Given the description of an element on the screen output the (x, y) to click on. 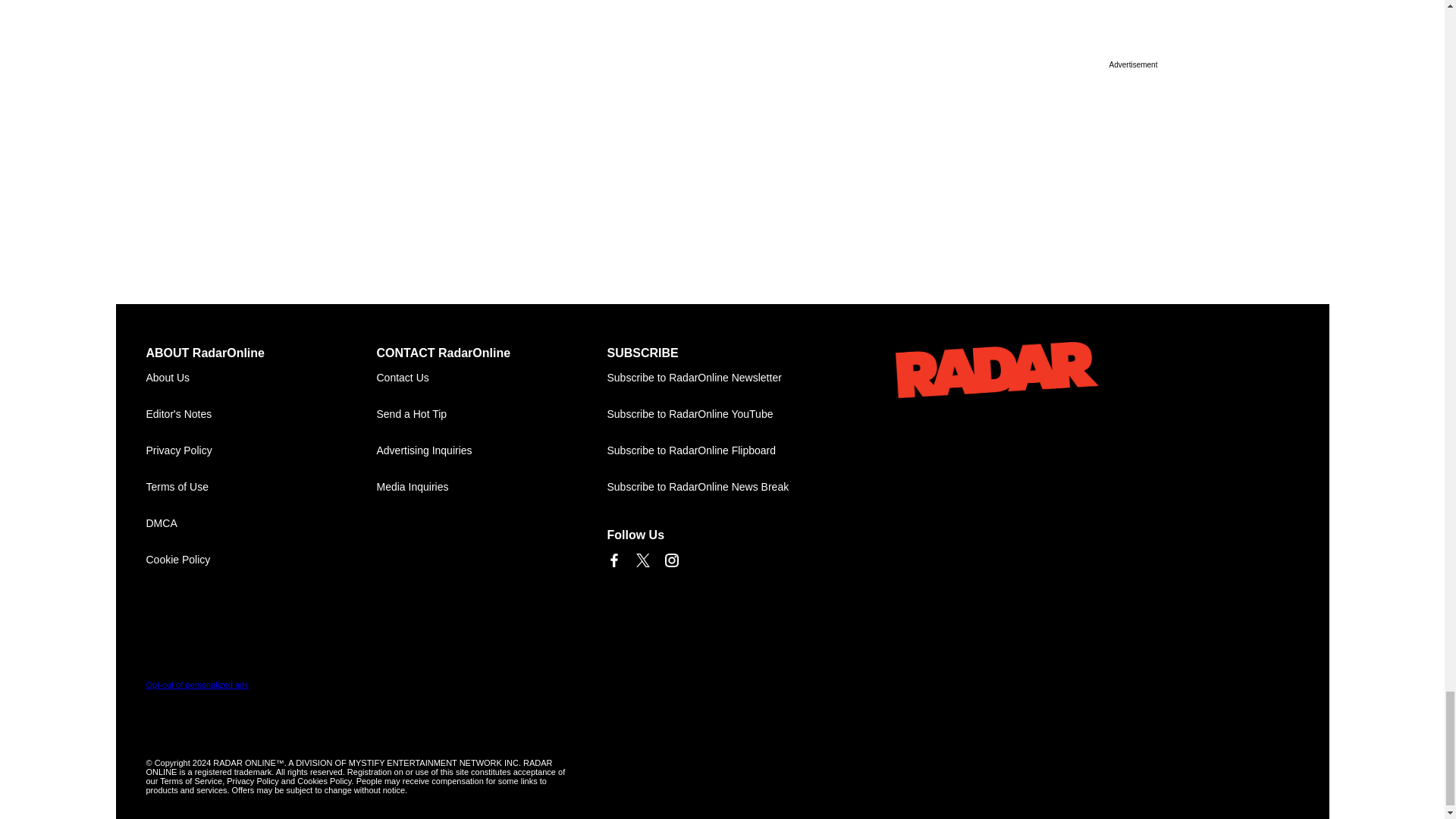
Contact Us (491, 378)
Cookie Policy (260, 560)
About Us (260, 378)
Terms of Use (260, 487)
Advertising Inquiries (491, 451)
Link to X (641, 560)
Link to Facebook (613, 560)
Send a Hot Tip (491, 414)
Editor's Notes (260, 414)
Privacy Policy (260, 451)
Link to Instagram (670, 560)
Subscribe (722, 378)
Media Inquiries (491, 487)
DMCA (260, 524)
